Given the description of an element on the screen output the (x, y) to click on. 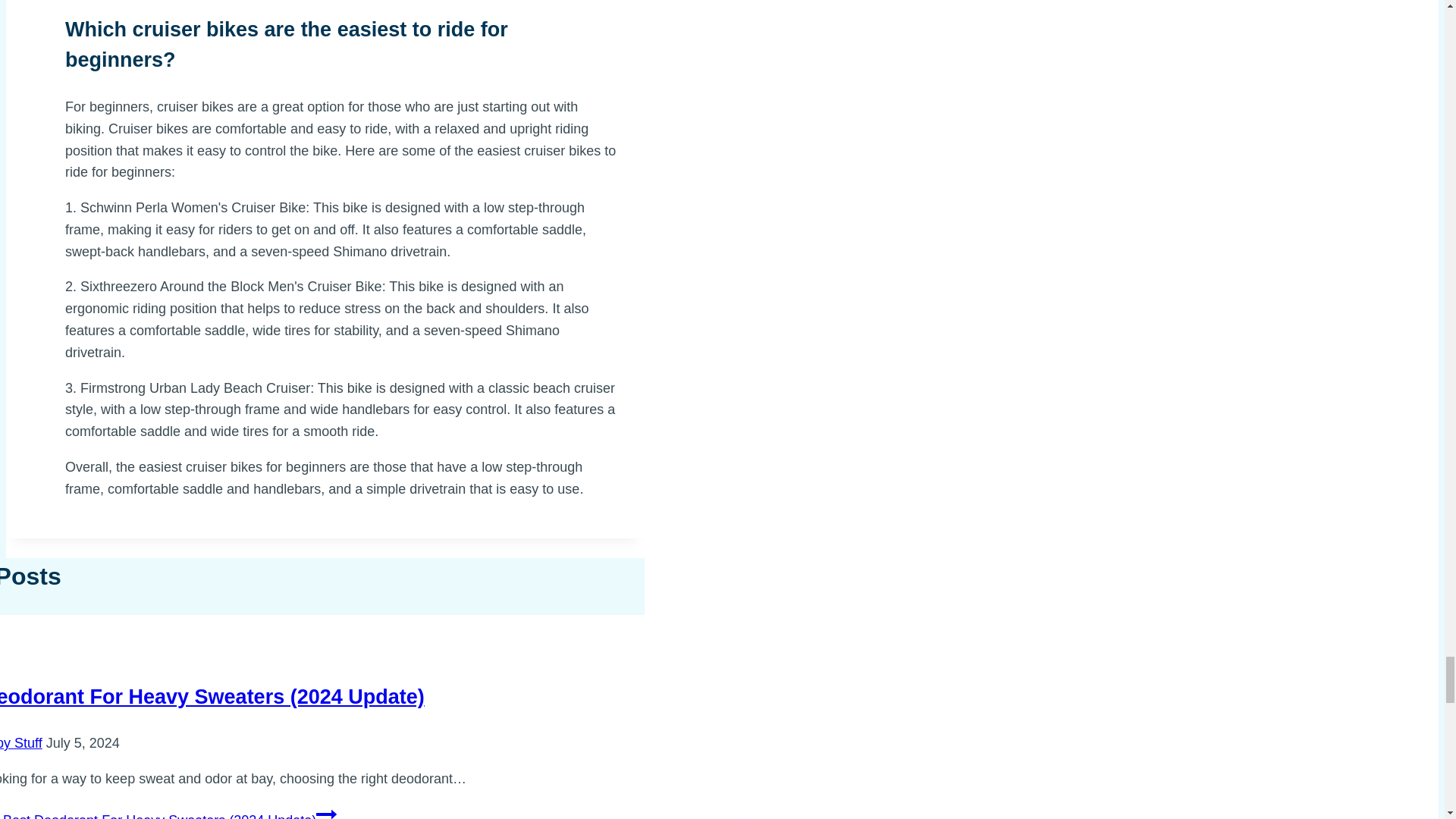
Continue (325, 811)
